Given the description of an element on the screen output the (x, y) to click on. 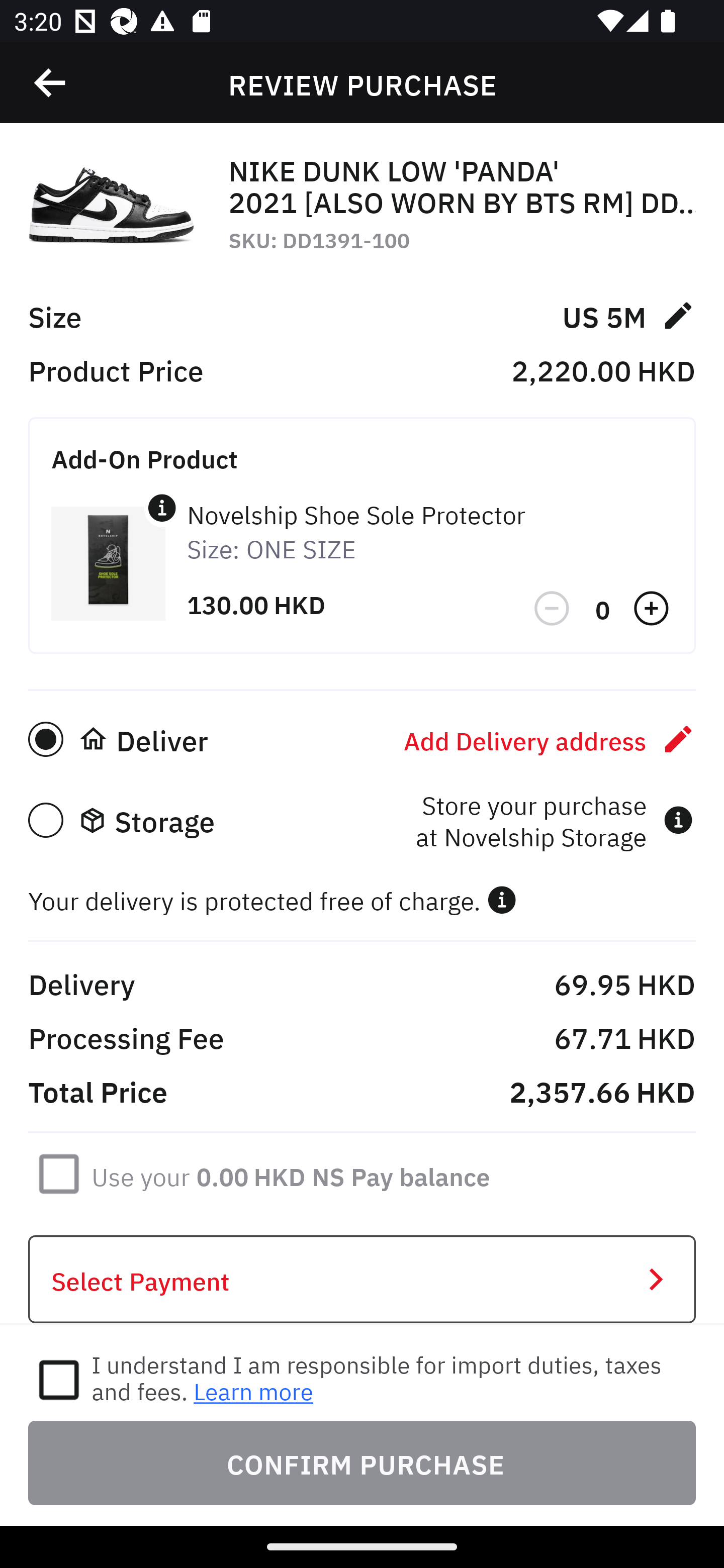
 (50, 83)
US 5M 󰏫 (628, 314)
 (162, 507)
 (553, 608)
 (652, 608)
󰚡 Deliver Add Delivery address 󰏫 (361, 739)
Add Delivery address 󰏫 (549, 739)
Store your purchase
at Novelship Storage  (554, 819)
 (501, 899)
Use your 0.00 HKD NS Pay balance (290, 1173)
Select Payment  (361, 1279)
 CONFIRM PURCHASE (361, 1462)
